Given the description of an element on the screen output the (x, y) to click on. 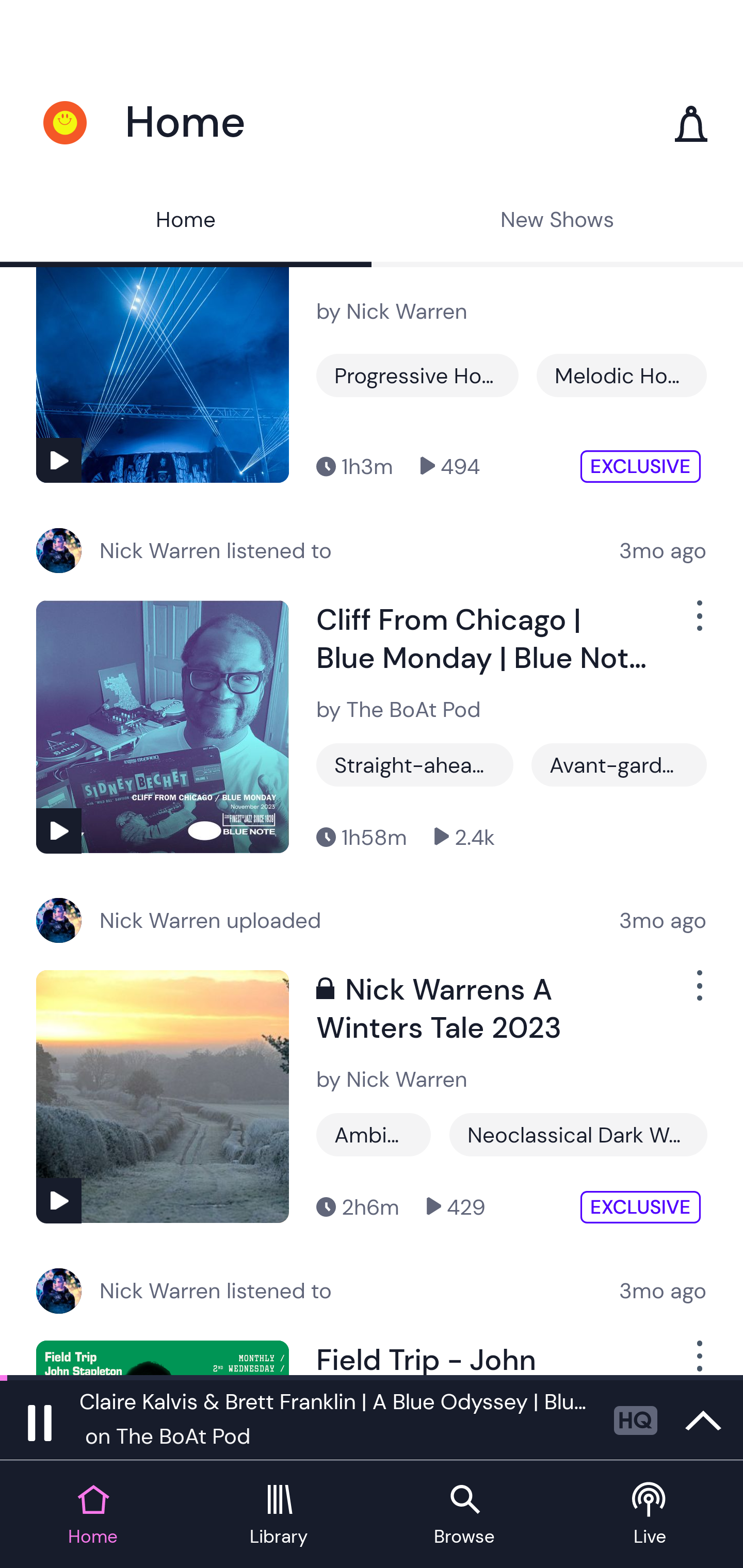
Home (185, 221)
New Shows (557, 221)
Progressive House (417, 375)
Melodic House (621, 375)
Show Options Menu Button (697, 623)
Straight-ahead Jazz (414, 765)
Avant-garde Jazz (618, 765)
Show Options Menu Button (697, 993)
Ambient (373, 1135)
Neoclassical Dark Wave (577, 1135)
Show Options Menu Button (697, 1357)
Home tab Home (92, 1515)
Library tab Library (278, 1515)
Browse tab Browse (464, 1515)
Live tab Live (650, 1515)
